Given the description of an element on the screen output the (x, y) to click on. 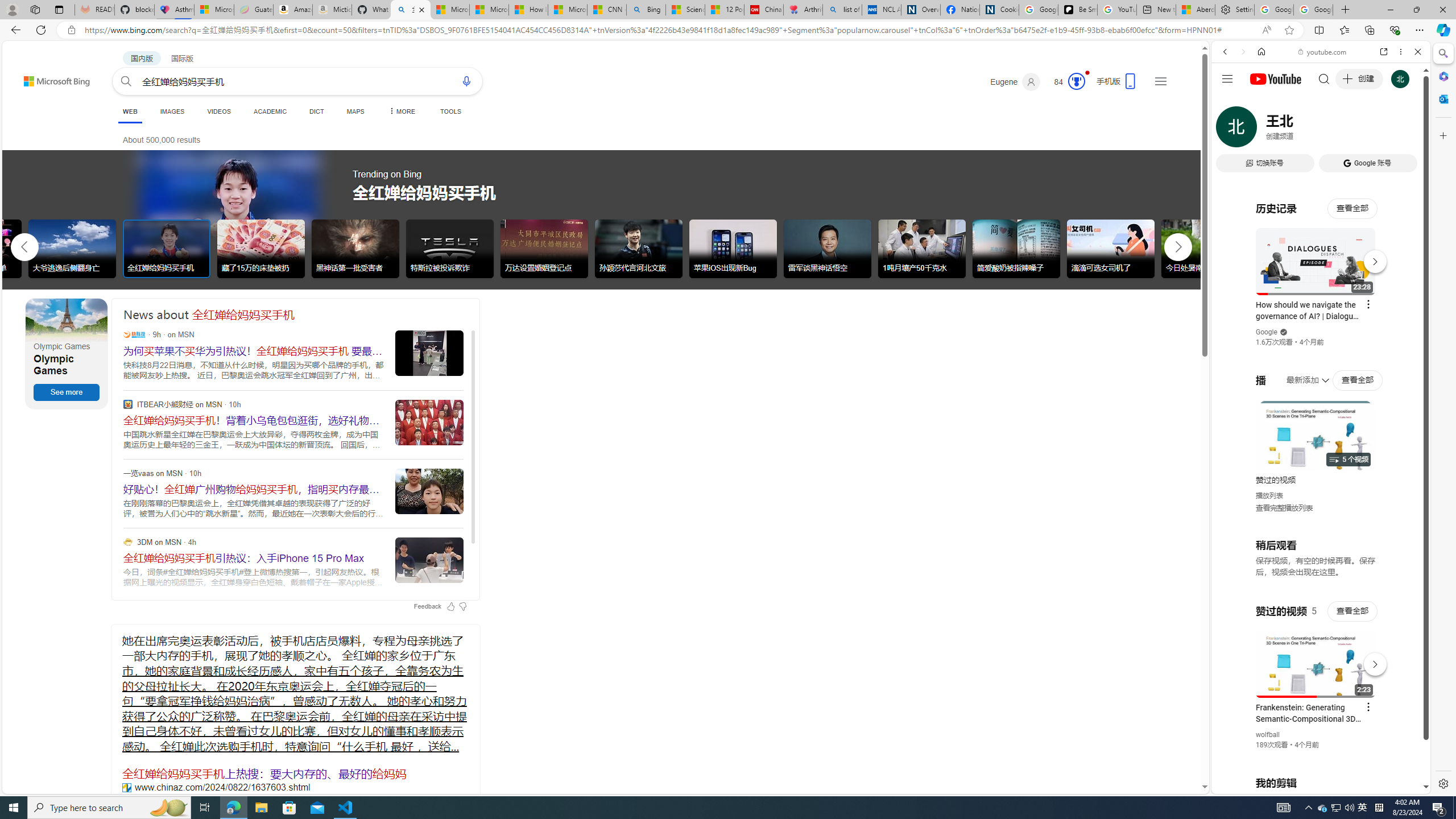
Actions for this site (1371, 661)
MAPS (355, 111)
VIDEOS (218, 111)
Open link in new tab (1383, 51)
Feedback Like (450, 605)
